Given the description of an element on the screen output the (x, y) to click on. 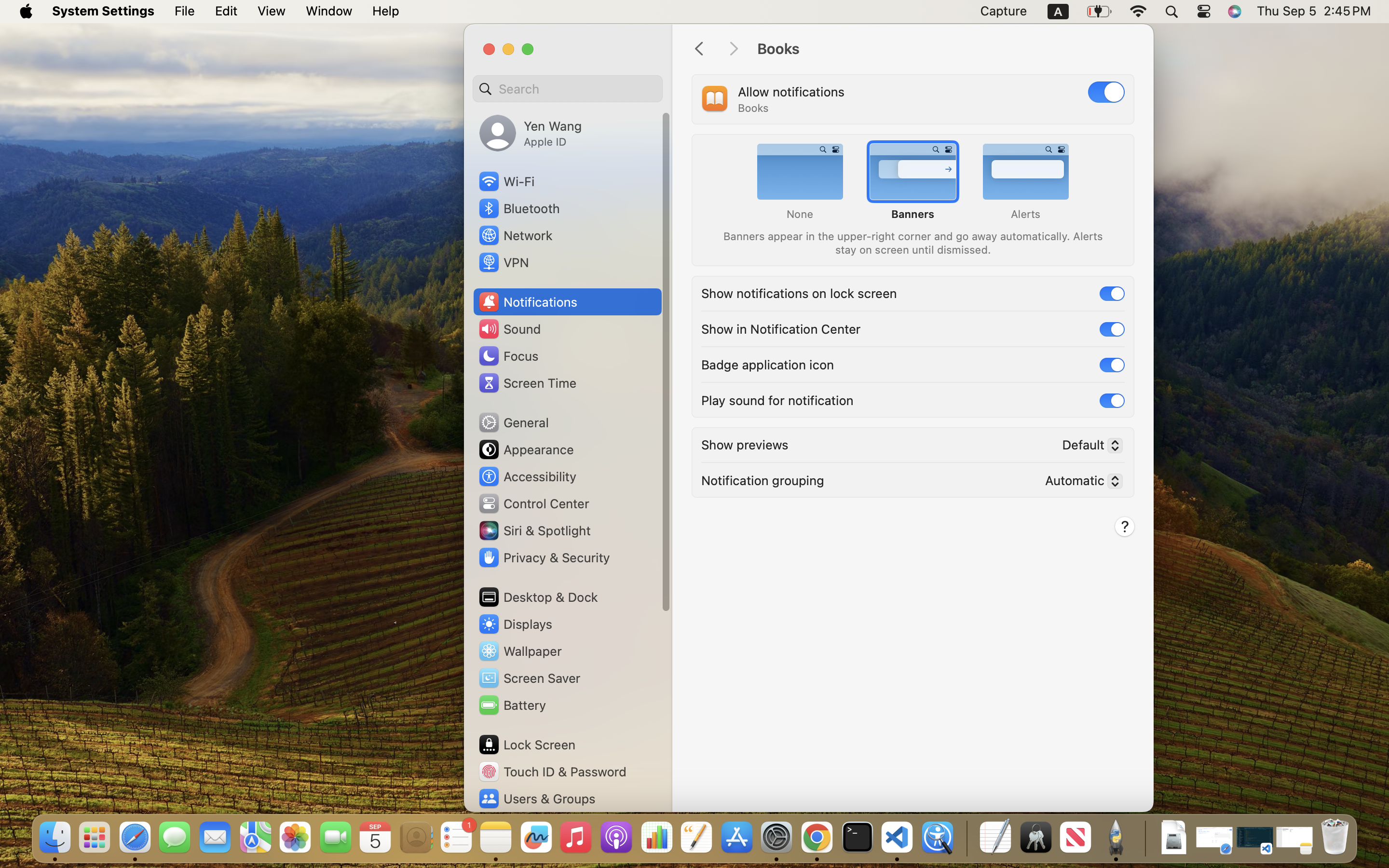
1 Element type: AXCheckBox (1106, 91)
Allow notifications Element type: AXStaticText (790, 91)
Default Element type: AXPopUpButton (1088, 446)
Users & Groups Element type: AXStaticText (536, 798)
Appearance Element type: AXStaticText (525, 449)
